Given the description of an element on the screen output the (x, y) to click on. 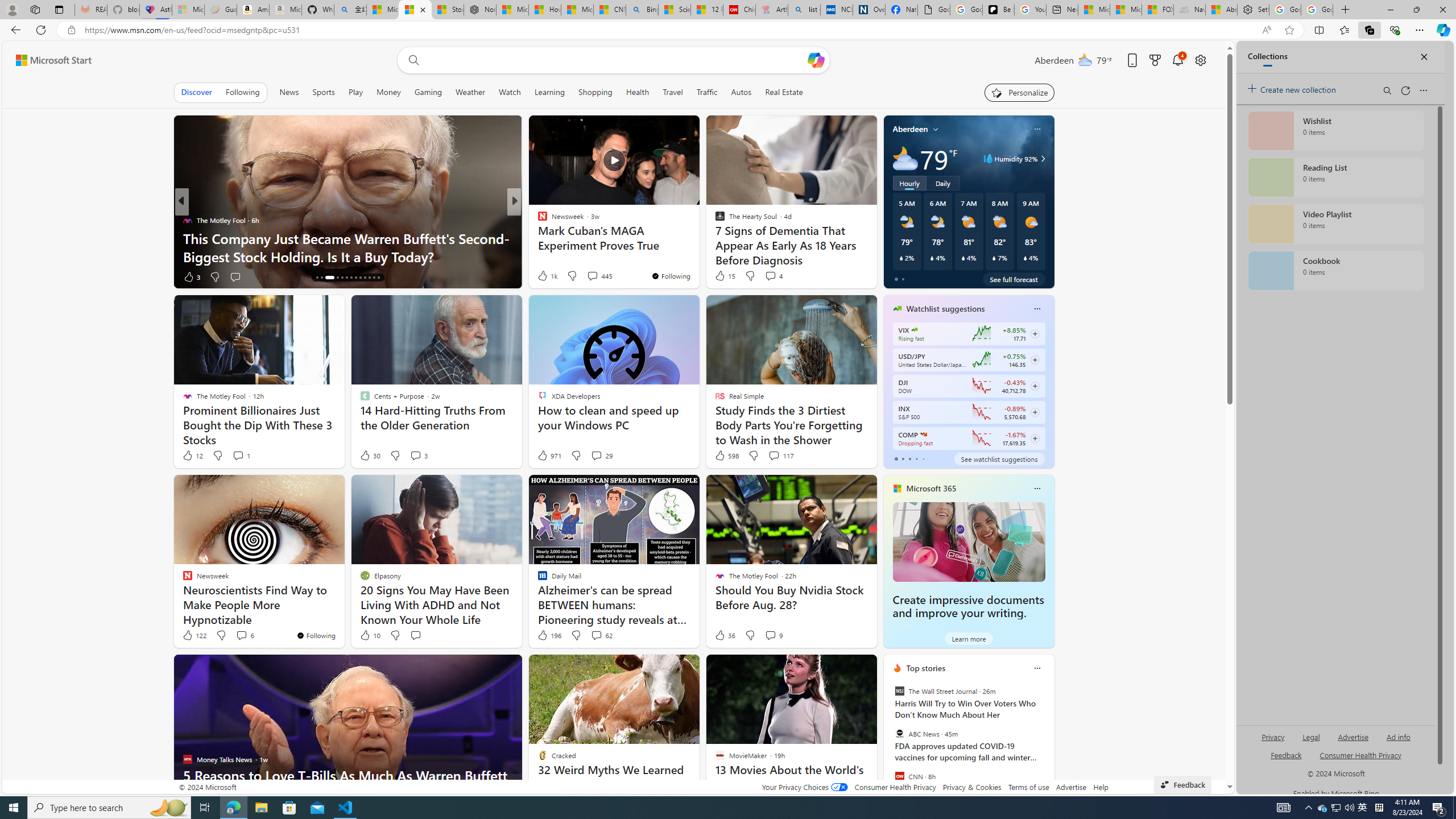
196 Like (548, 634)
View comments 34 Comment (594, 276)
14 Like (543, 276)
AutomationID: tab-18 (342, 277)
View comments 4 Comment (773, 275)
Aberdeen, Hong Kong SAR hourly forecast | Microsoft Weather (1221, 9)
